Given the description of an element on the screen output the (x, y) to click on. 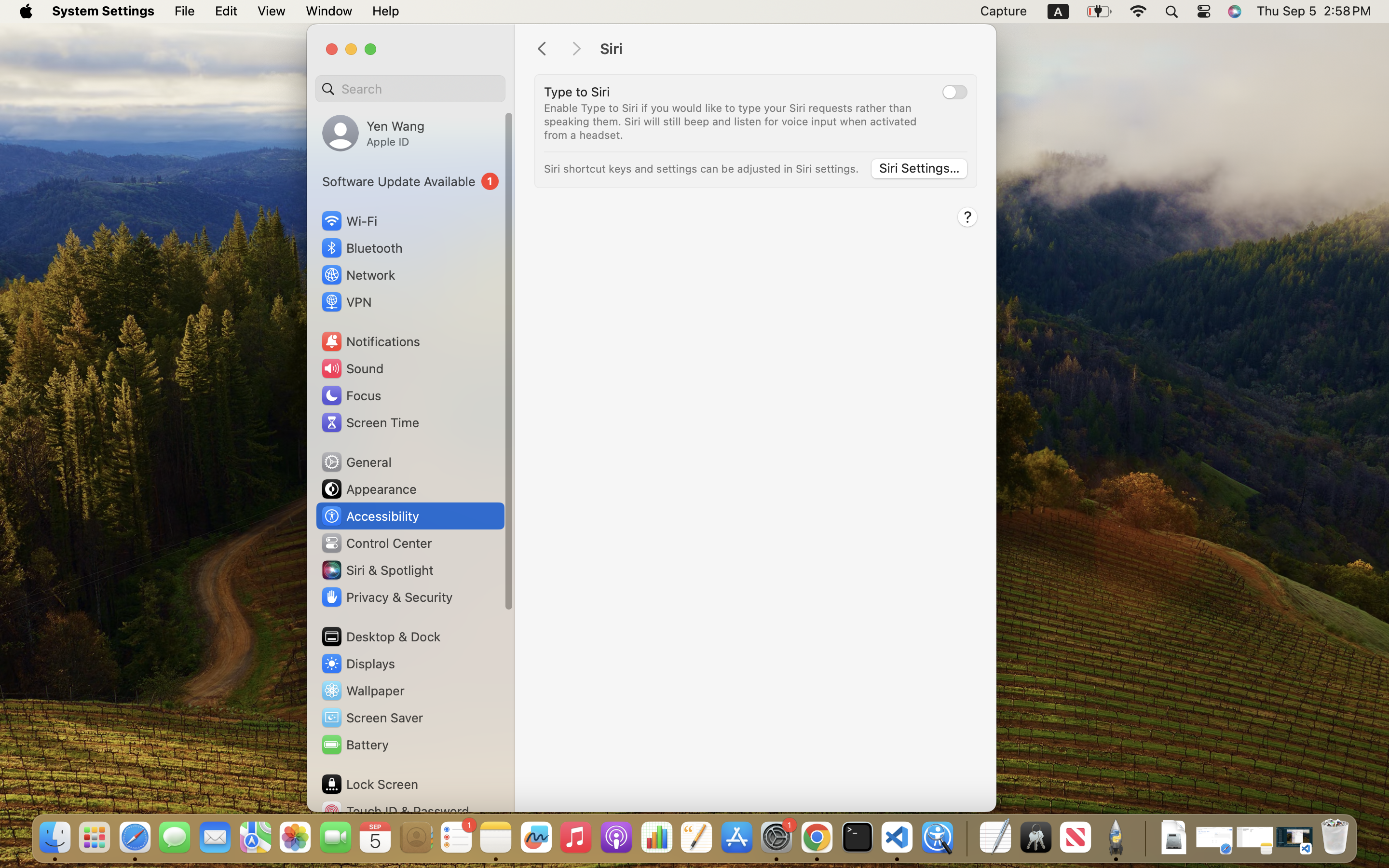
Wi‑Fi Element type: AXStaticText (348, 220)
Bluetooth Element type: AXStaticText (361, 247)
Focus Element type: AXStaticText (350, 394)
Type to Siri Element type: AXStaticText (576, 91)
